Given the description of an element on the screen output the (x, y) to click on. 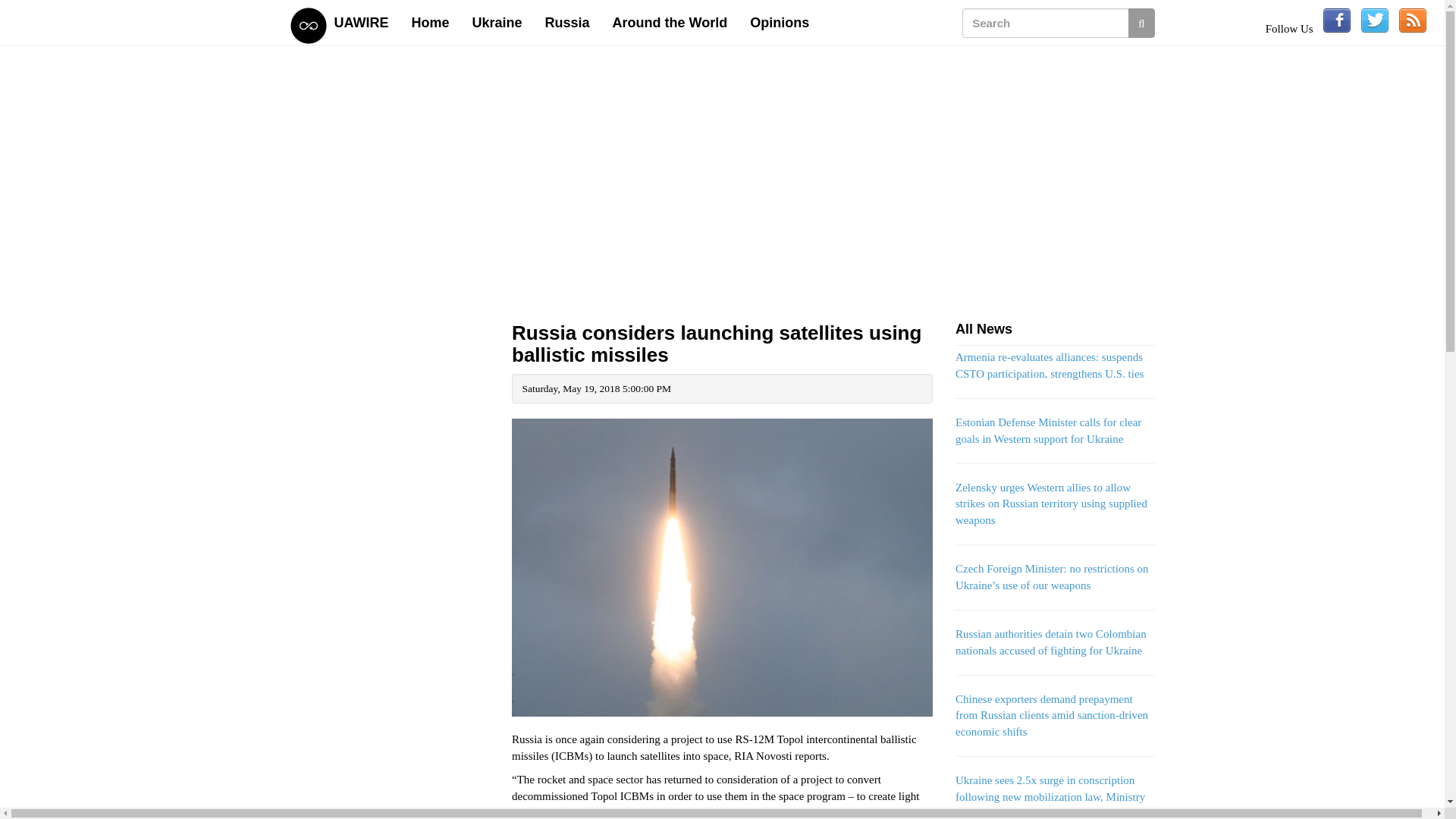
UAWIRE (361, 22)
Advertisement (389, 790)
Subscribe to our rss feed (1412, 20)
Russia (567, 22)
Home (430, 22)
Follow us on Twitter (1375, 20)
